Given the description of an element on the screen output the (x, y) to click on. 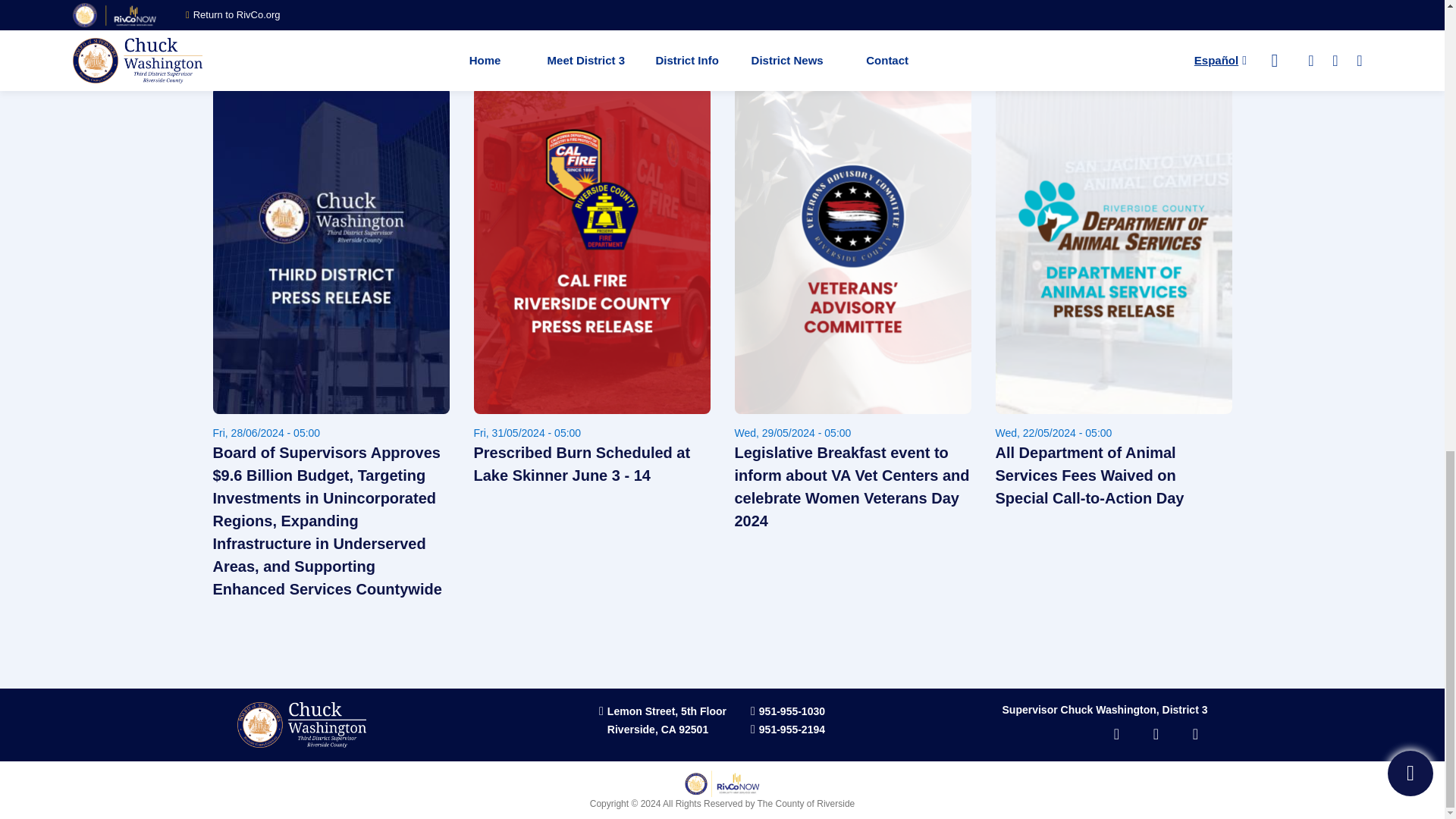
951-955-1030 (798, 691)
951-955-2194 (798, 710)
Prescribed Burn Scheduled at Lake Skinner June 3 - 14 (591, 443)
